Given the description of an element on the screen output the (x, y) to click on. 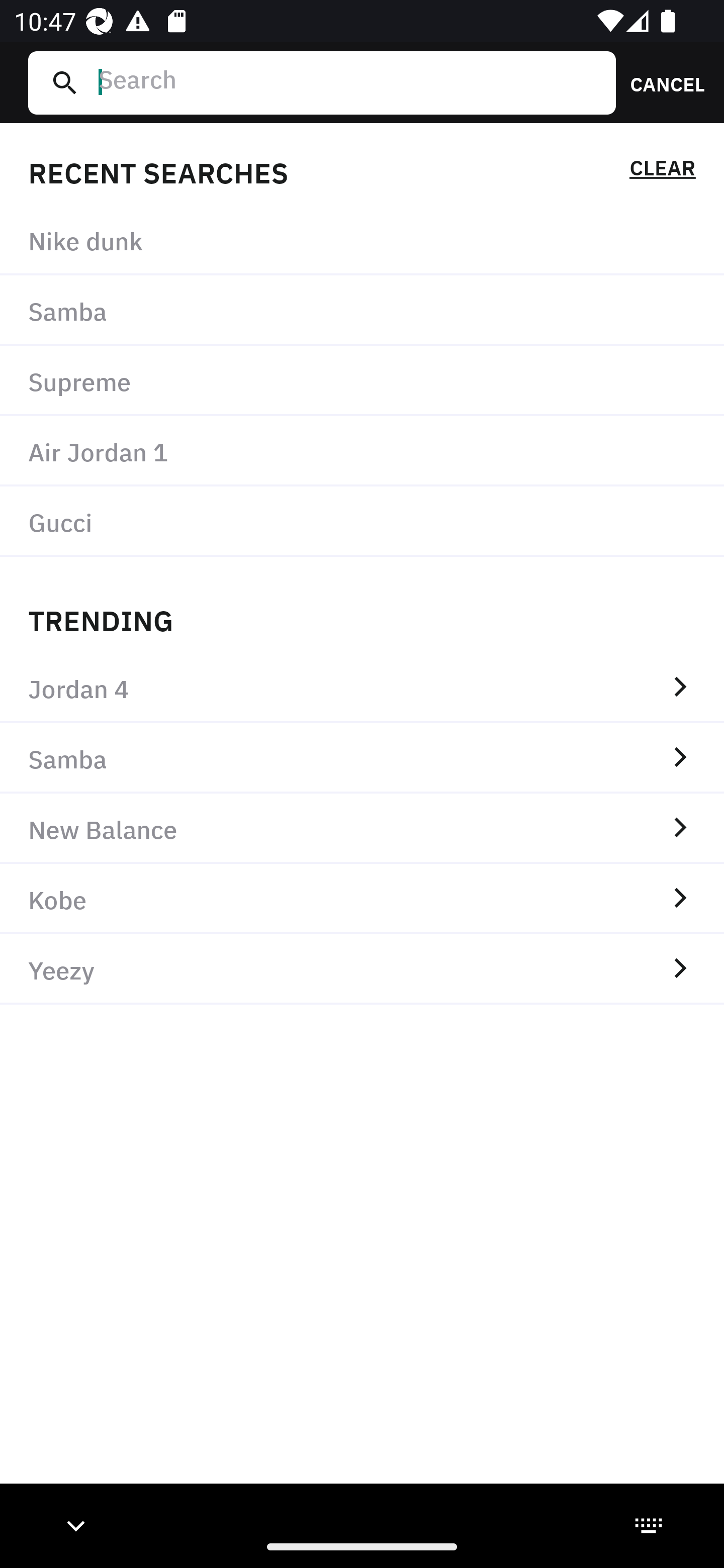
CANCEL (660, 82)
Search (349, 82)
CLEAR (662, 170)
Nike dunk (362, 240)
Samba (362, 310)
Supreme (362, 380)
Air Jordan 1 (362, 450)
Gucci (362, 521)
Jordan 4  (362, 687)
Samba  (362, 757)
New Balance  (362, 828)
Kobe  (362, 898)
Yeezy  (362, 969)
